Given the description of an element on the screen output the (x, y) to click on. 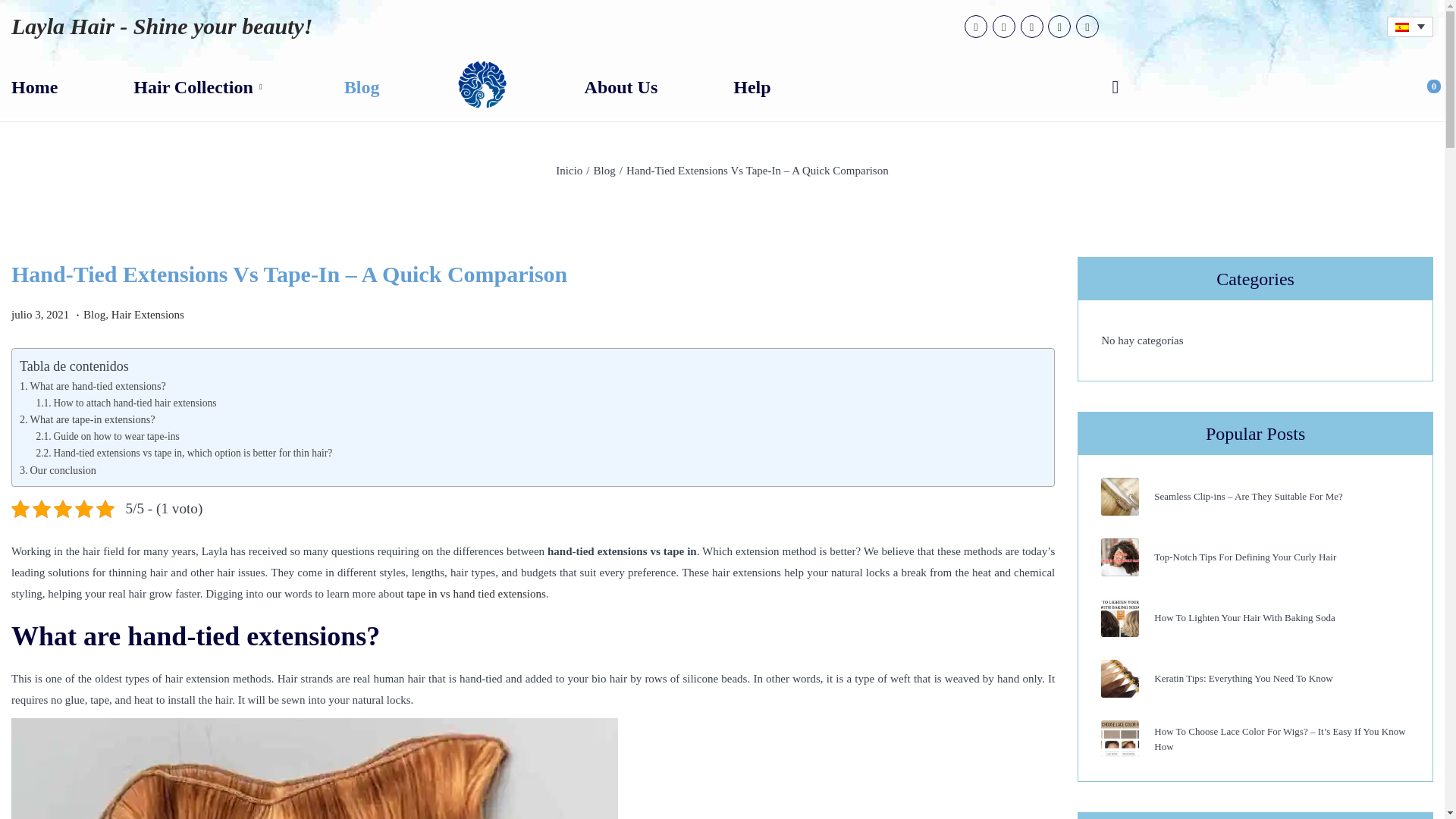
Guide on how to wear tape-ins (106, 436)
Layla Hair - Shine your beauty! (162, 25)
Our conclusion (58, 469)
Logo (481, 85)
Hair Collection (200, 87)
What are tape-in extensions? (87, 419)
What are hand-tied extensions? (92, 386)
About Us (621, 87)
How to attach hand-tied hair extensions (124, 402)
